Given the description of an element on the screen output the (x, y) to click on. 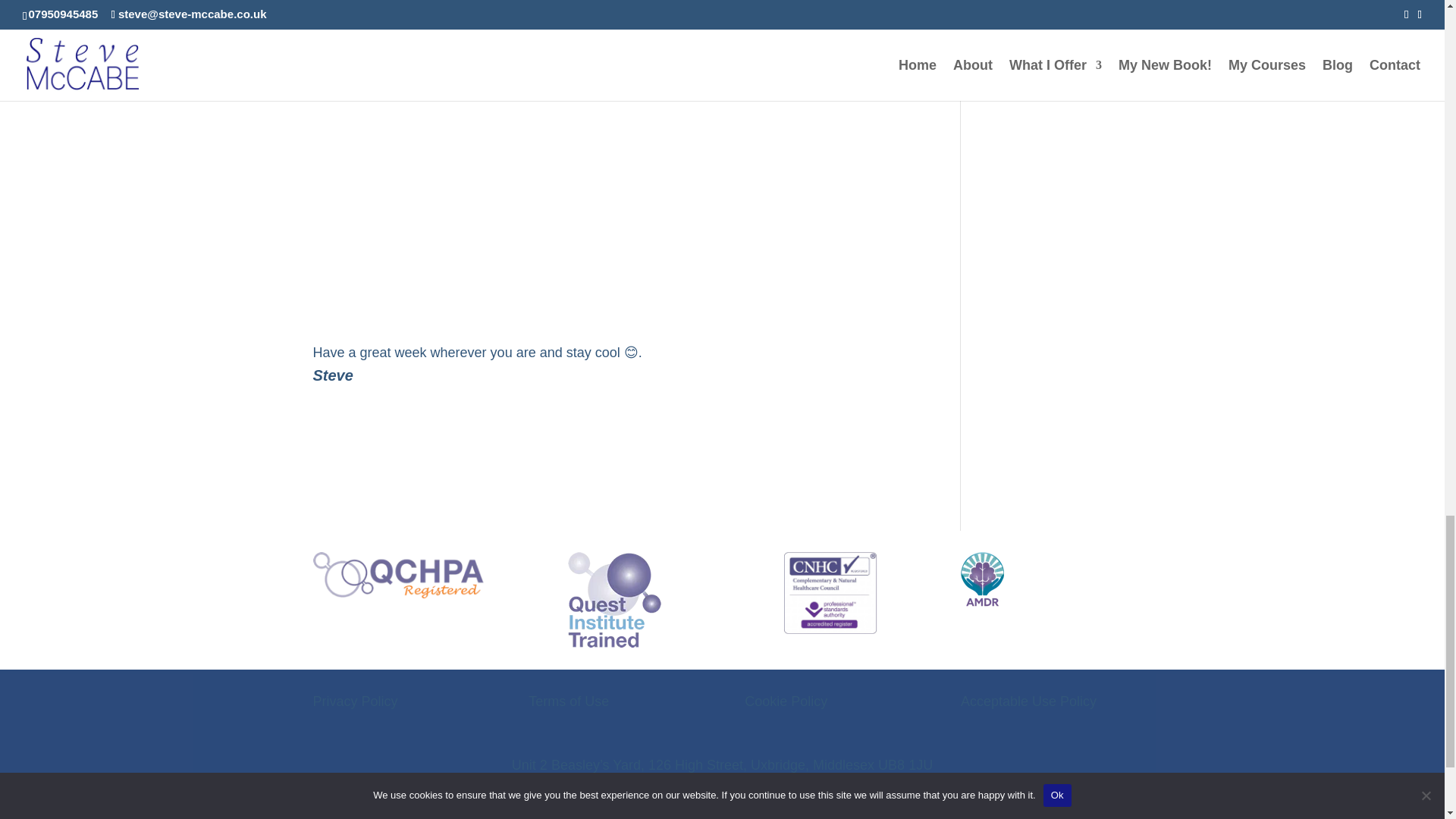
logo-quest (614, 599)
Acceptable Use Policy (1028, 701)
Cookie Policy (785, 701)
Click here to book a chat! (409, 36)
cnhc (830, 592)
logo-qchpa (398, 575)
Privacy Policy (355, 701)
Terms of Use (568, 701)
